Given the description of an element on the screen output the (x, y) to click on. 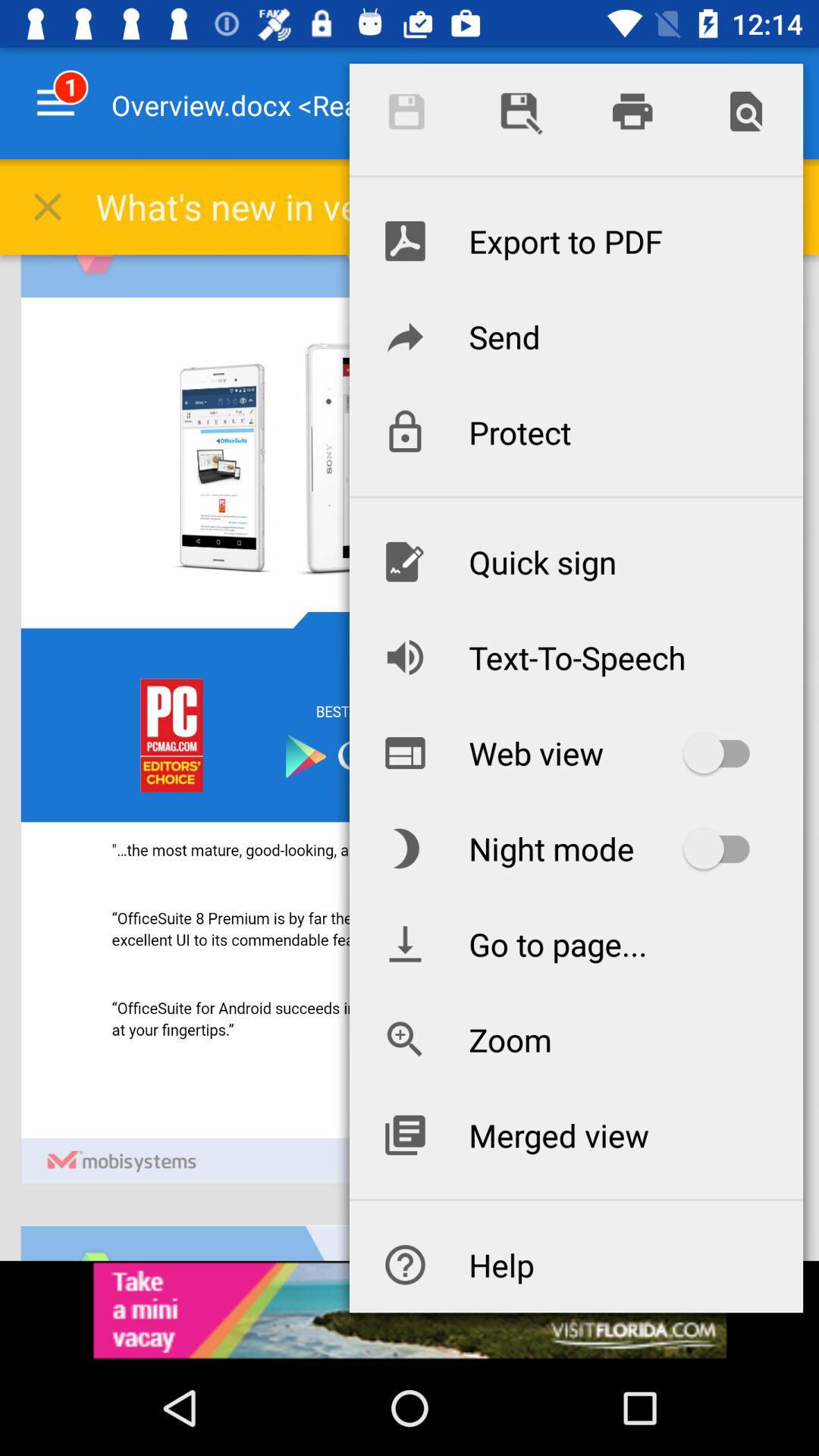
open the item above the text-to-speech item (576, 561)
